Given the description of an element on the screen output the (x, y) to click on. 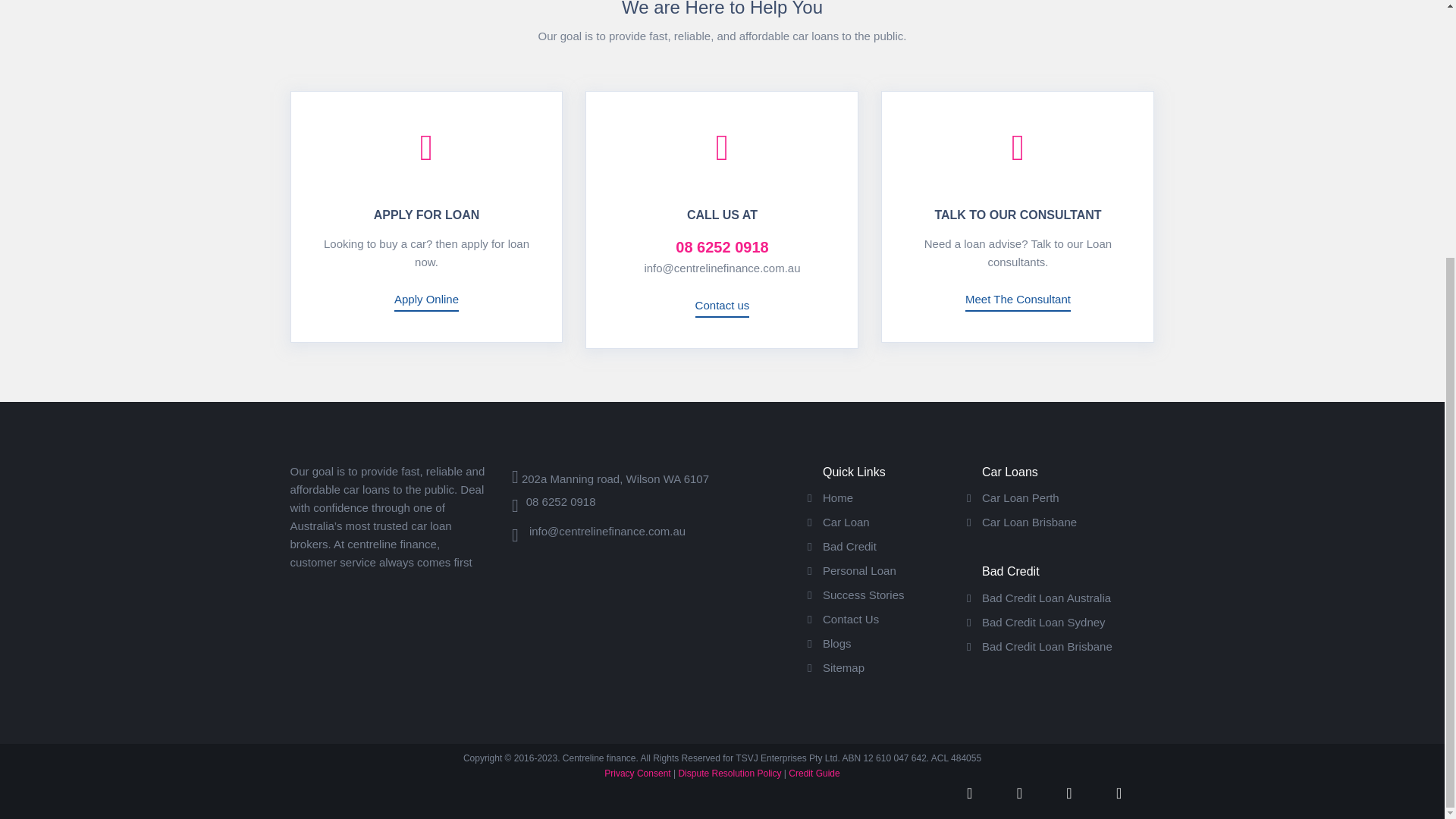
Meet The Consultant (1017, 301)
Car Loan (845, 521)
Home (837, 497)
Bad Credit (849, 545)
Contact us (722, 307)
Apply Online (426, 301)
